Given the description of an element on the screen output the (x, y) to click on. 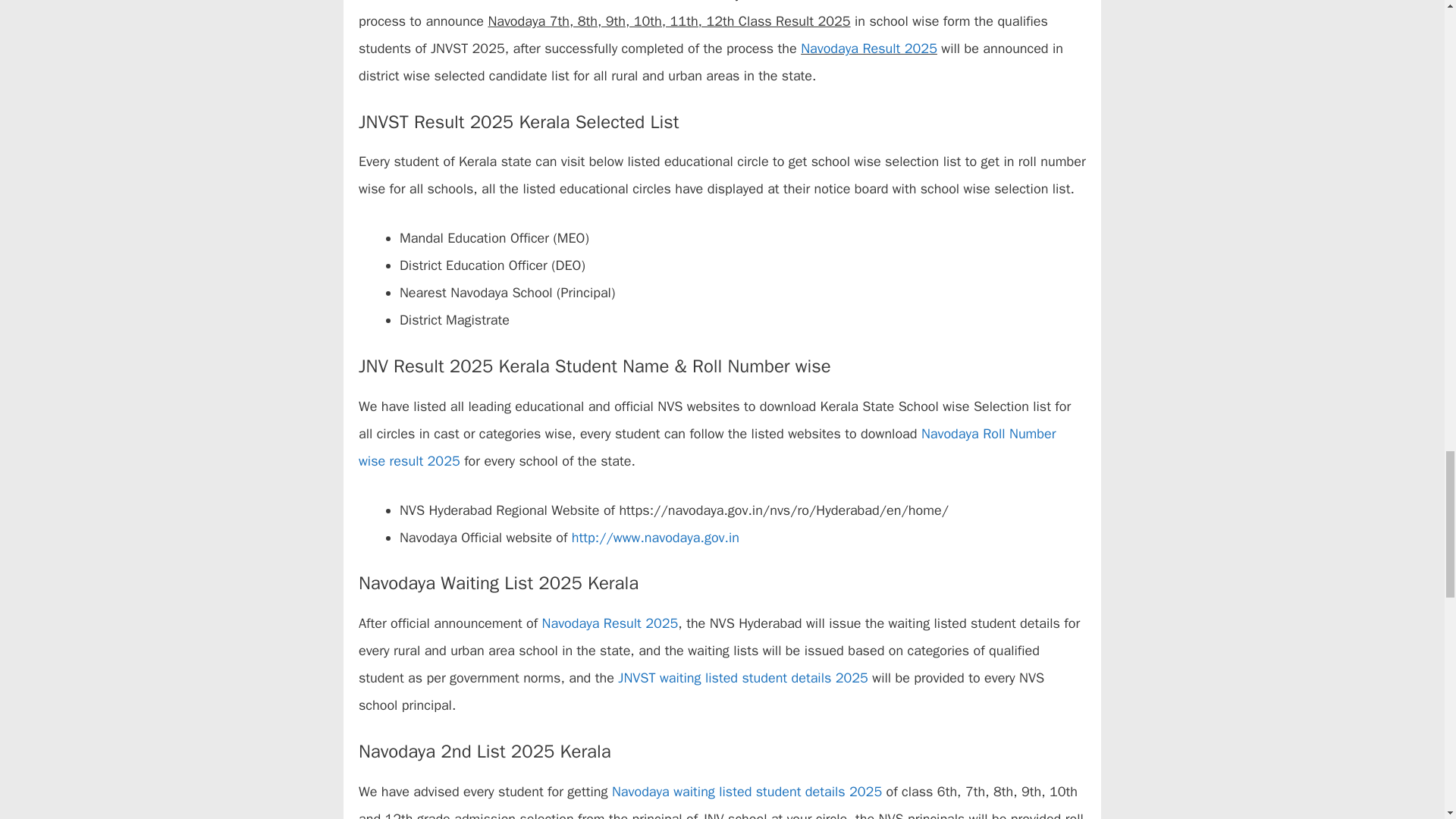
Navodaya Roll Number wise result 2025 (706, 447)
Navodaya Result 2025 (868, 48)
Navodaya Result 2025 (609, 623)
